Given the description of an element on the screen output the (x, y) to click on. 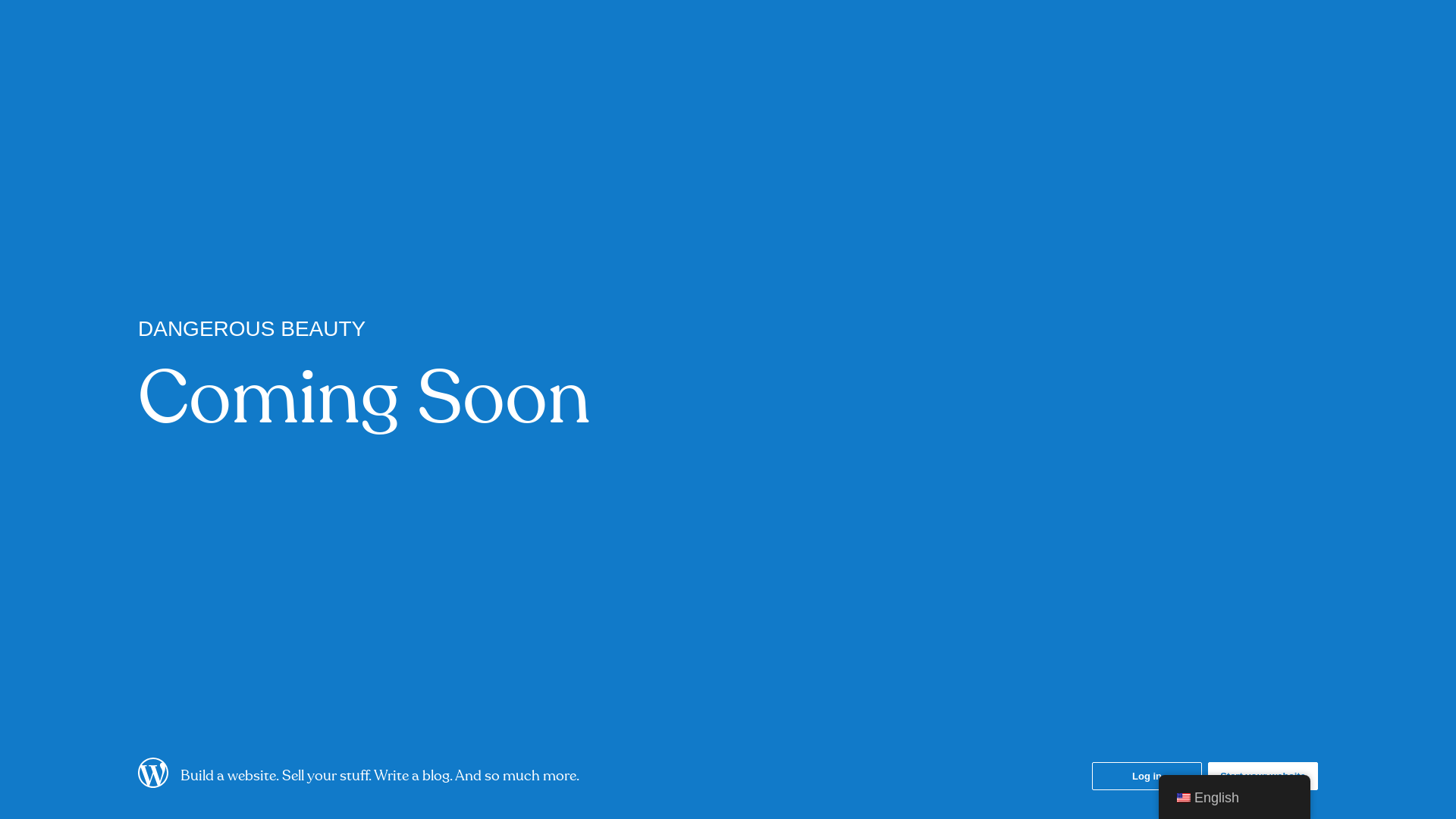
Log in Element type: text (1146, 776)
English Element type: hover (1183, 797)
Start your website Element type: text (1262, 776)
WordPress.com Element type: text (153, 782)
English Element type: text (1234, 797)
